Given the description of an element on the screen output the (x, y) to click on. 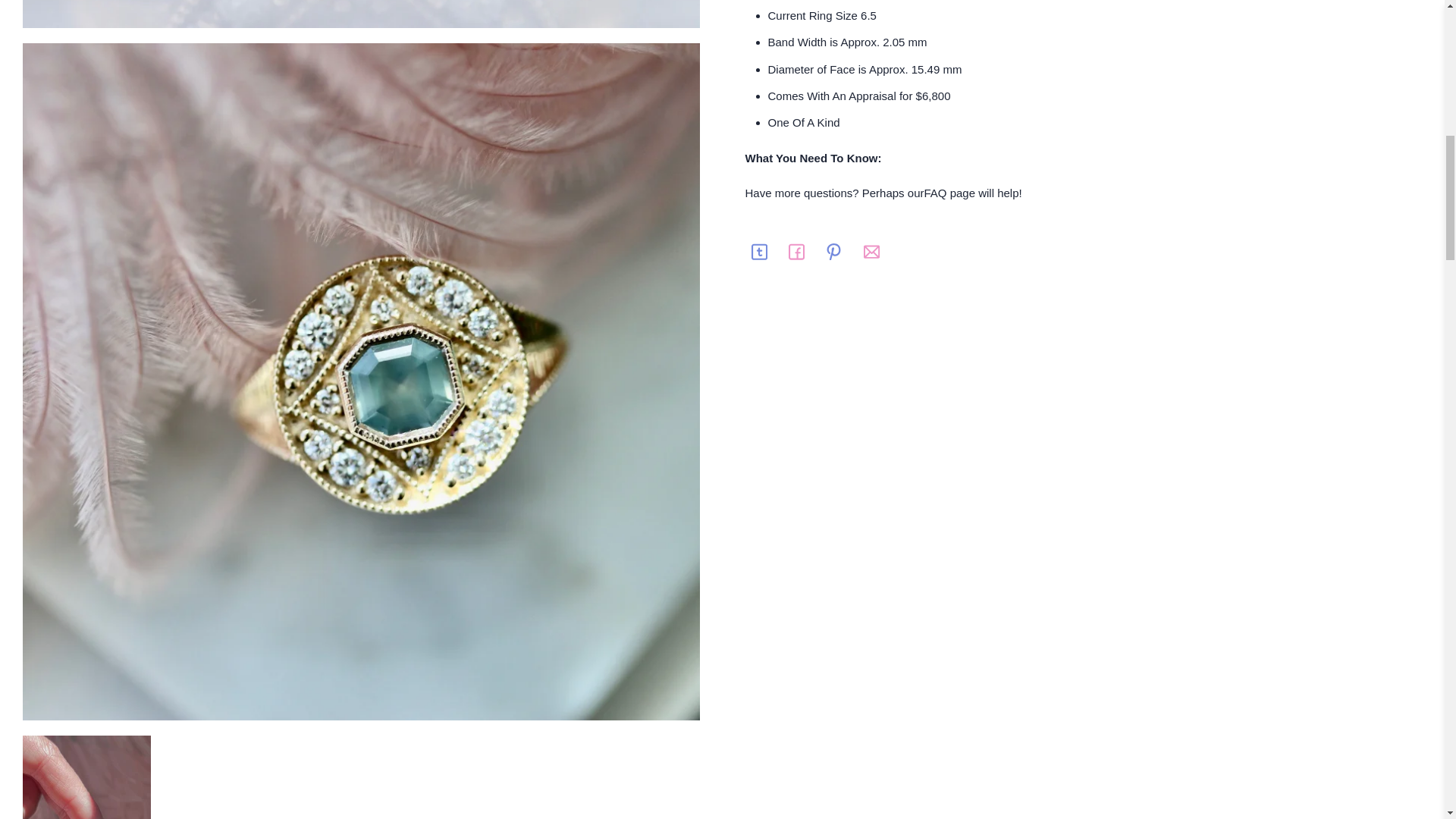
Share this on Twitter (758, 251)
JEWELRY APPRAISALS: EVERYTHING YOU NEED TO KNOW (872, 95)
Email this to a friend (871, 251)
Big Sky Teal Asscher Cut Montana Sapphire Ring (361, 14)
Share this on Facebook (796, 251)
Share this on Pinterest (833, 251)
